Given the description of an element on the screen output the (x, y) to click on. 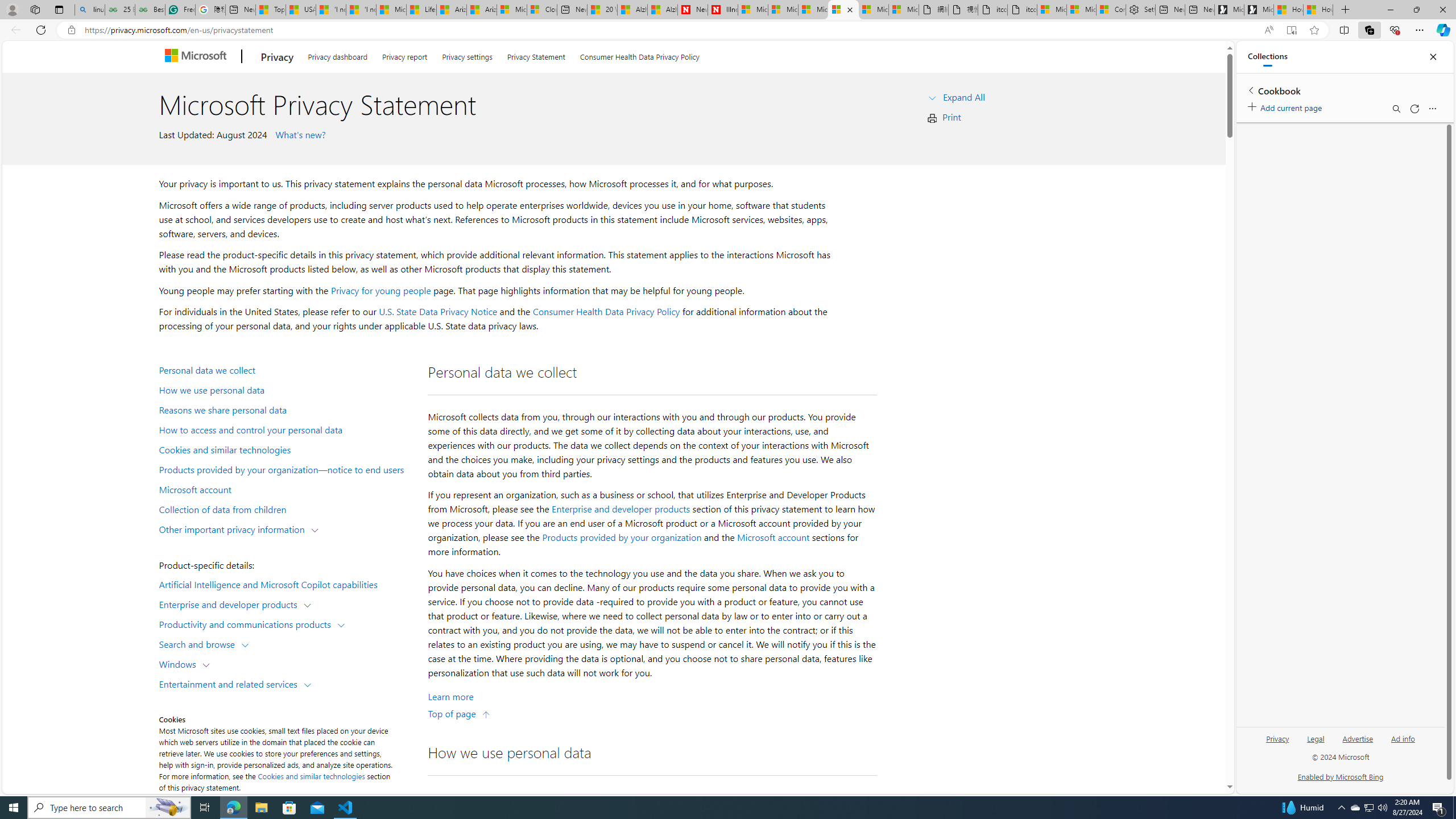
Lifestyle - MSN (421, 9)
Enter Immersive Reader (F9) (1291, 29)
How we use personal data (287, 389)
Microsoft (197, 56)
20 Ways to Boost Your Protein Intake at Every Meal (601, 9)
Microsoft account (772, 537)
Free AI Writing Assistance for Students | Grammarly (180, 9)
linux basic - Search (89, 9)
Cookies and similar technologies (287, 449)
Privacy report (404, 54)
